Given the description of an element on the screen output the (x, y) to click on. 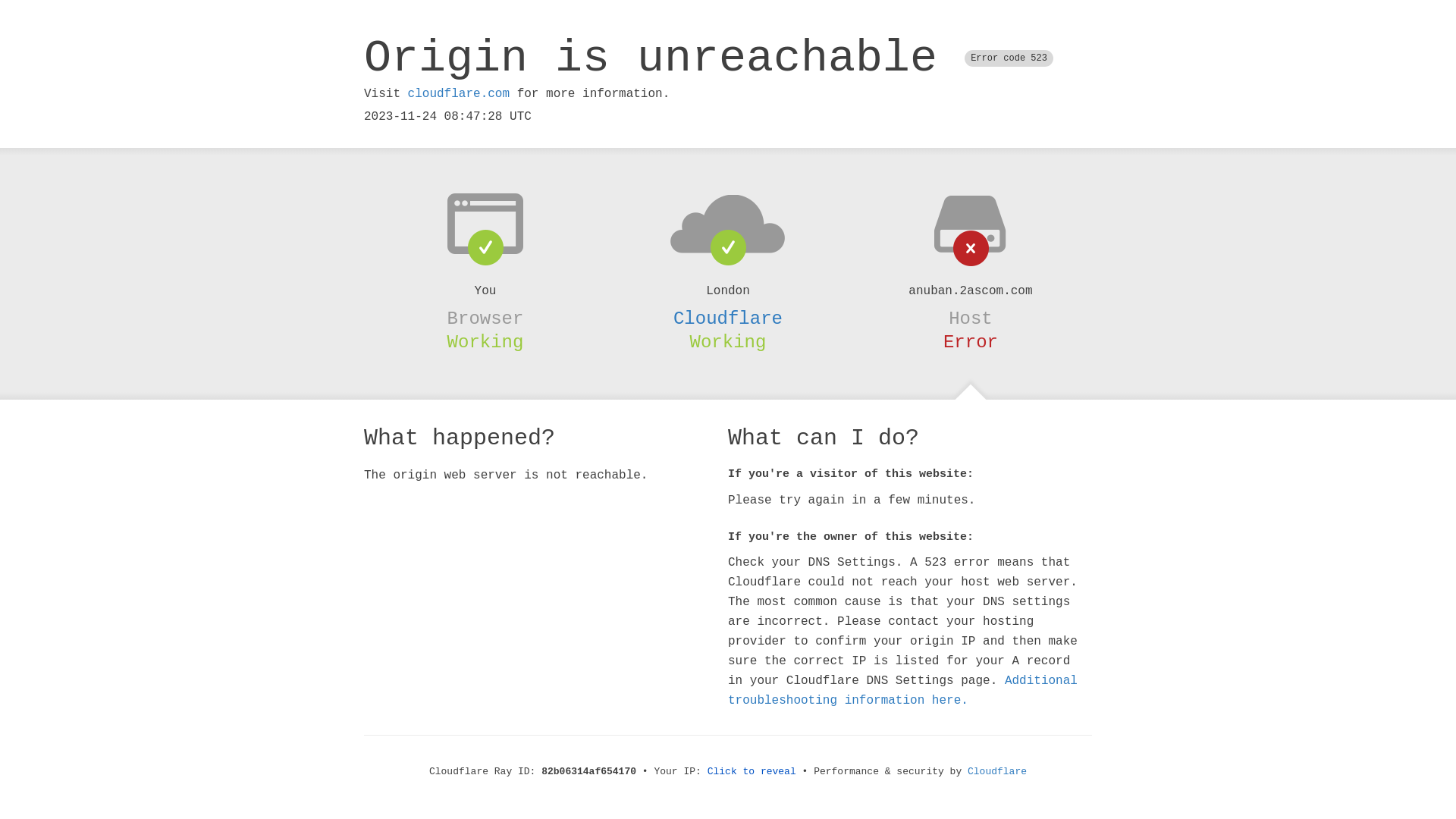
Cloudflare Element type: text (996, 771)
Additional troubleshooting information here. Element type: text (902, 690)
Cloudflare Element type: text (727, 318)
Click to reveal Element type: text (751, 771)
cloudflare.com Element type: text (458, 93)
